Given the description of an element on the screen output the (x, y) to click on. 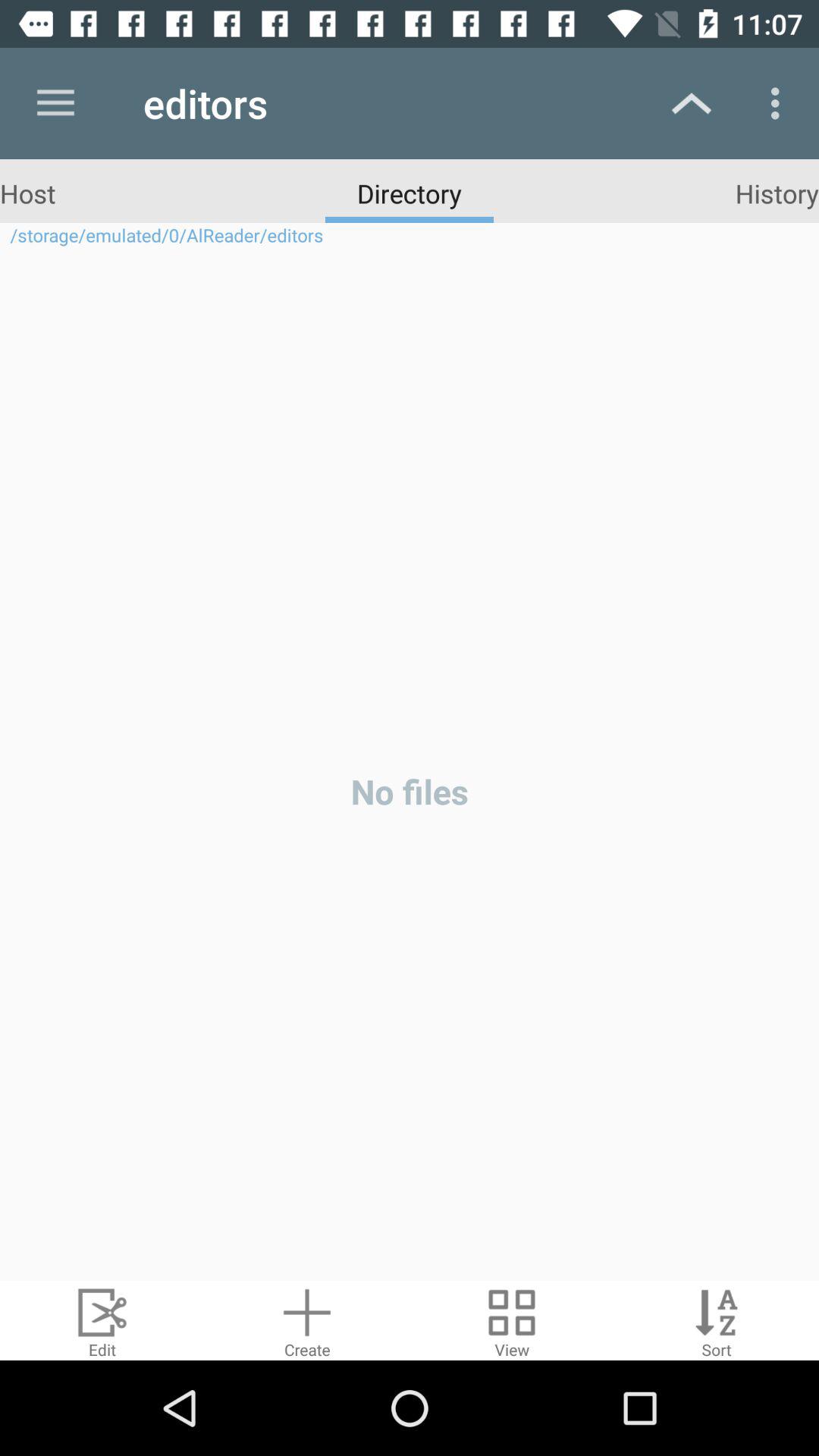
sort files (716, 1320)
